Given the description of an element on the screen output the (x, y) to click on. 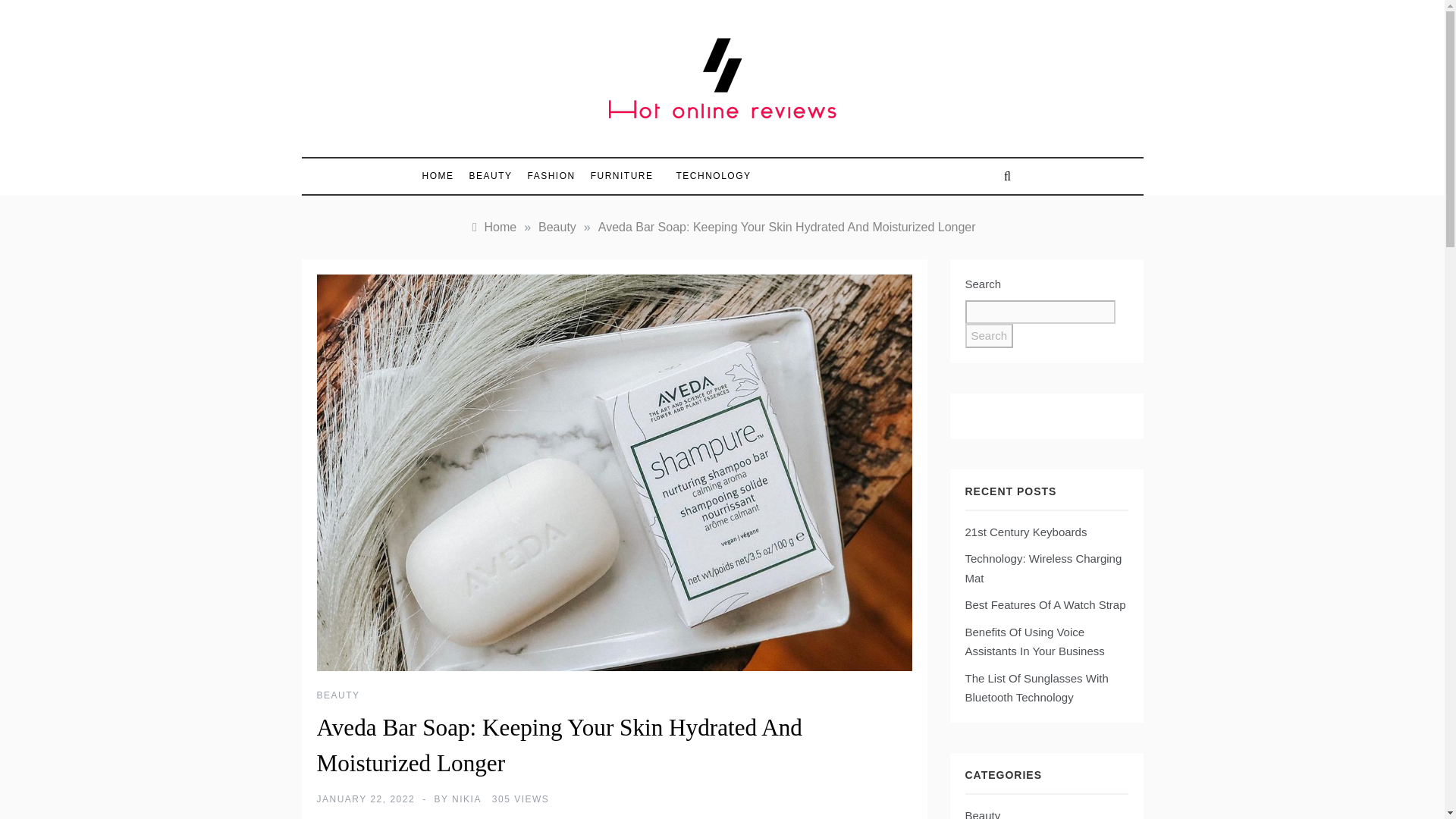
TECHNOLOGY (706, 175)
BEAUTY (338, 695)
FASHION (551, 176)
Technology: Wireless Charging Mat (1042, 568)
Benefits Of Using Voice Assistants In Your Business (1033, 641)
FURNITURE (622, 176)
Search (988, 335)
Best Features Of A Watch Strap (1044, 604)
HOME (441, 176)
JANUARY 22, 2022 (365, 798)
The List Of Sunglasses With Bluetooth Technology (1035, 687)
Beauty (557, 226)
21st Century Keyboards (1024, 531)
NIKIA (465, 798)
